Given the description of an element on the screen output the (x, y) to click on. 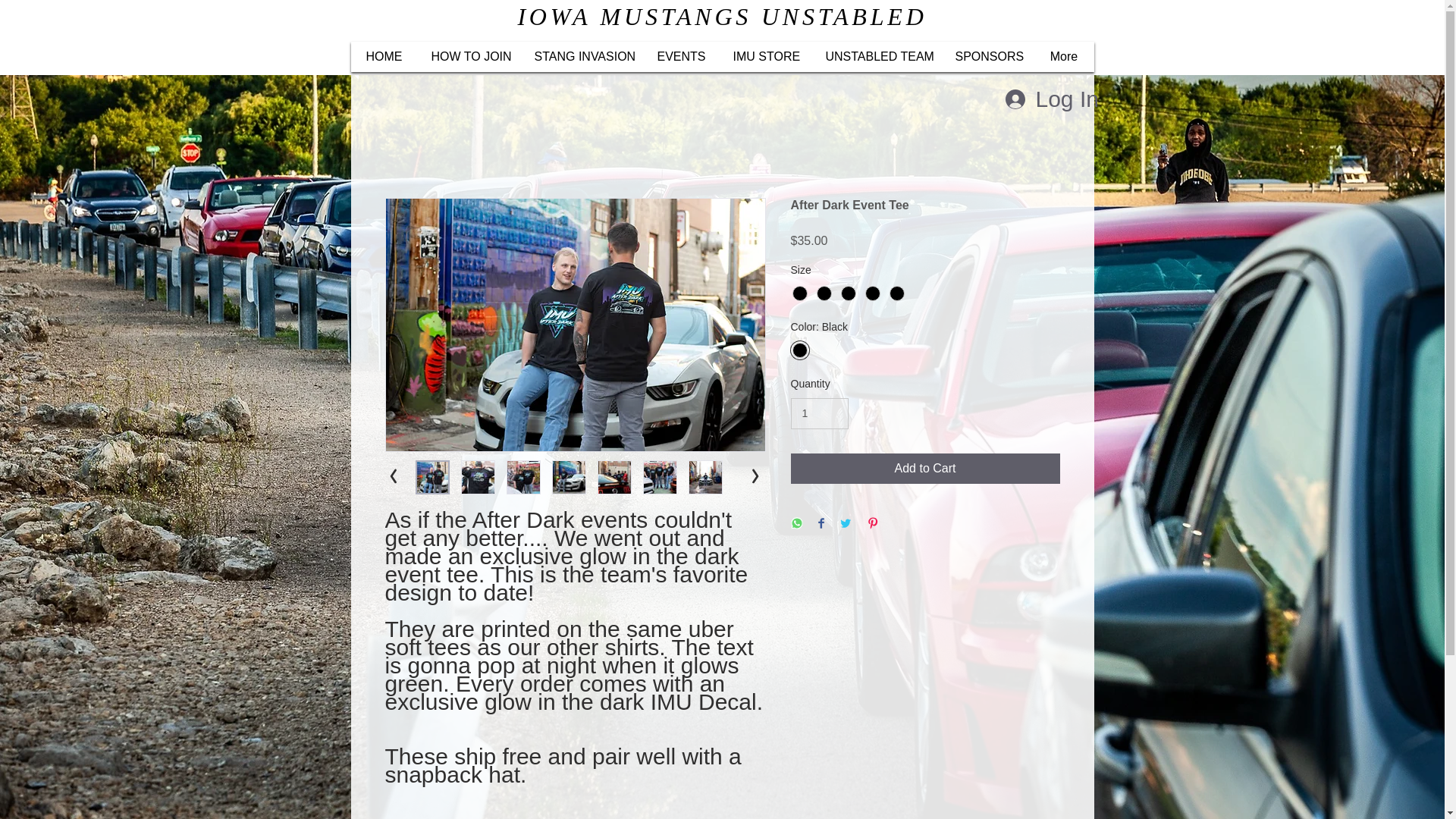
STANG INVASION (580, 56)
IMU STORE (764, 56)
HOW TO JOIN (467, 56)
Add to Cart (924, 468)
1 (818, 413)
HOME (383, 56)
Log In (1040, 99)
UNSTABLED TEAM (874, 56)
EVENTS (680, 56)
SPONSORS (986, 56)
